Given the description of an element on the screen output the (x, y) to click on. 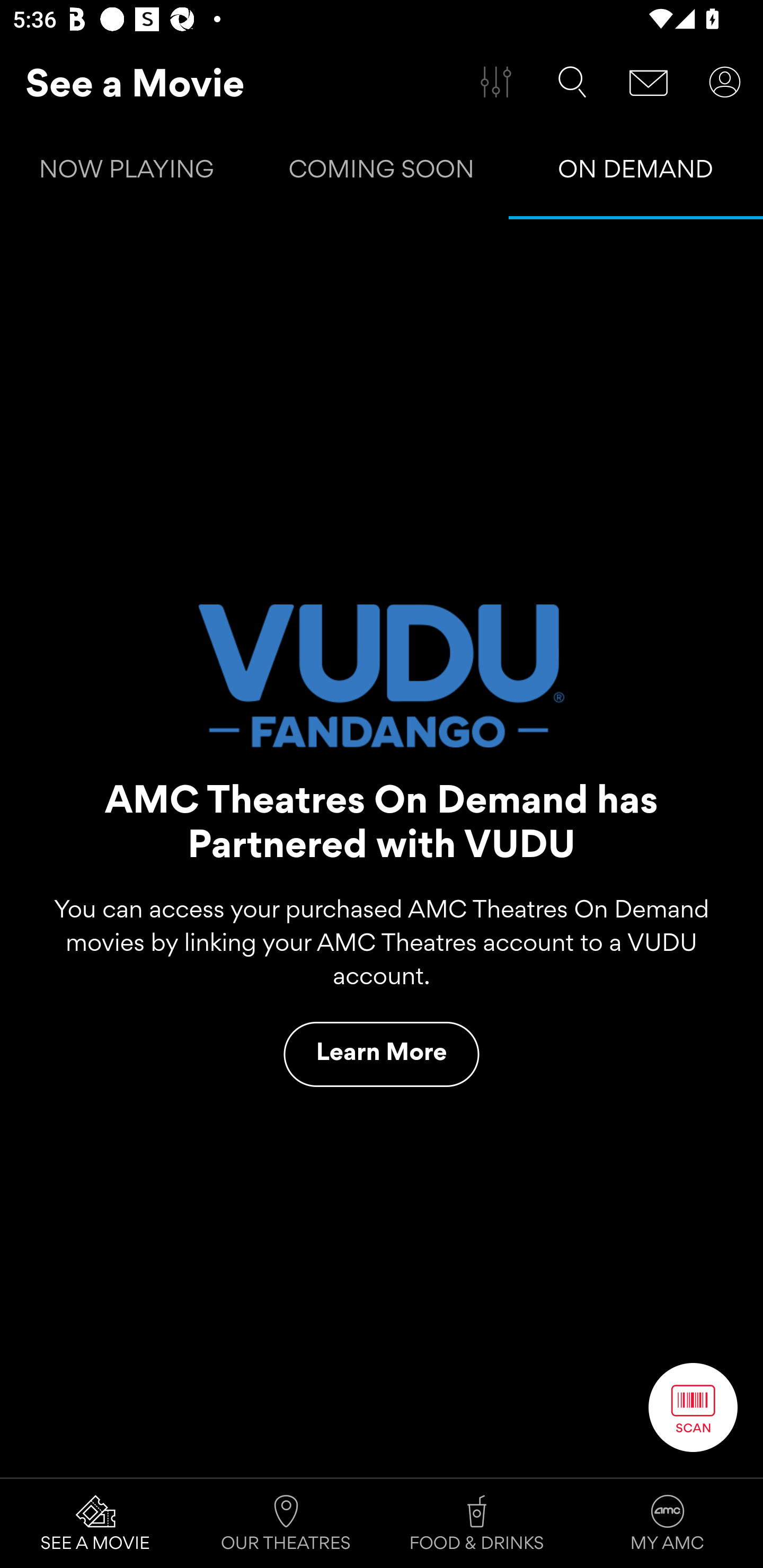
Search (572, 82)
Message Center (648, 82)
User Account (724, 82)
NOW PLAYING
Tab 1 of 3 (127, 173)
COMING SOON
Tab 2 of 3 (381, 173)
ON DEMAND
Tab 3 of 3 (635, 173)
Learn More (381, 1054)
Scan Button (692, 1406)
SEE A MOVIE
Tab 1 of 4 (95, 1523)
OUR THEATRES
Tab 2 of 4 (285, 1523)
FOOD & DRINKS
Tab 3 of 4 (476, 1523)
MY AMC
Tab 4 of 4 (667, 1523)
